Given the description of an element on the screen output the (x, y) to click on. 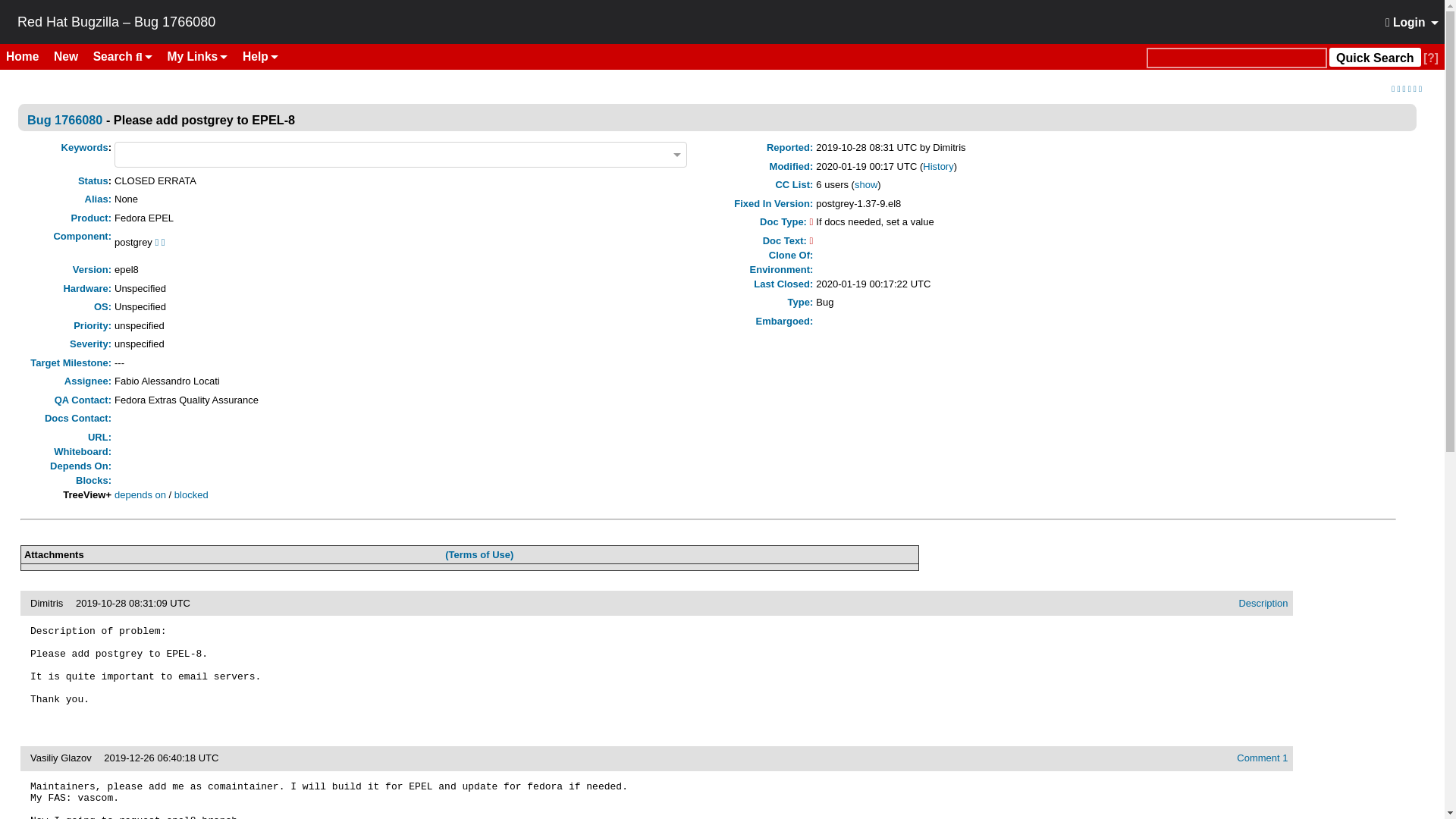
Home (28, 56)
New (72, 56)
Quick Search (1375, 56)
Help (259, 56)
My Links (197, 56)
Quick Search (1236, 57)
